Given the description of an element on the screen output the (x, y) to click on. 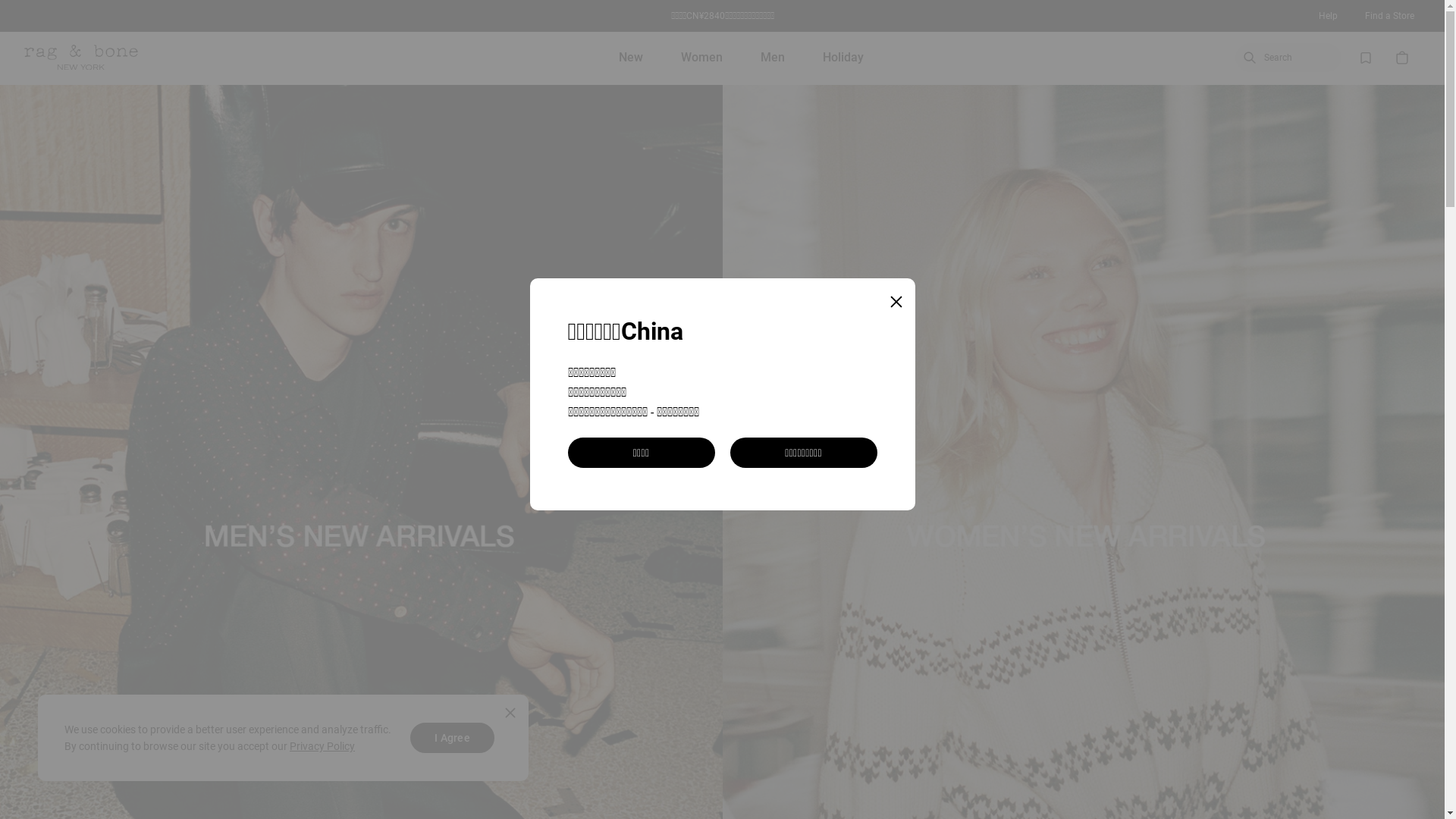
Holiday Element type: text (842, 57)
Search Element type: text (1288, 56)
Men Element type: text (772, 57)
Help Element type: text (1327, 15)
Home page Element type: hover (81, 57)
New Element type: text (630, 57)
Women Element type: text (701, 57)
I Agree Element type: text (452, 737)
Privacy Policy Element type: text (321, 745)
Saved Items Element type: hover (1365, 57)
View your cart Element type: hover (1401, 57)
Find a Store Element type: text (1389, 15)
